Given the description of an element on the screen output the (x, y) to click on. 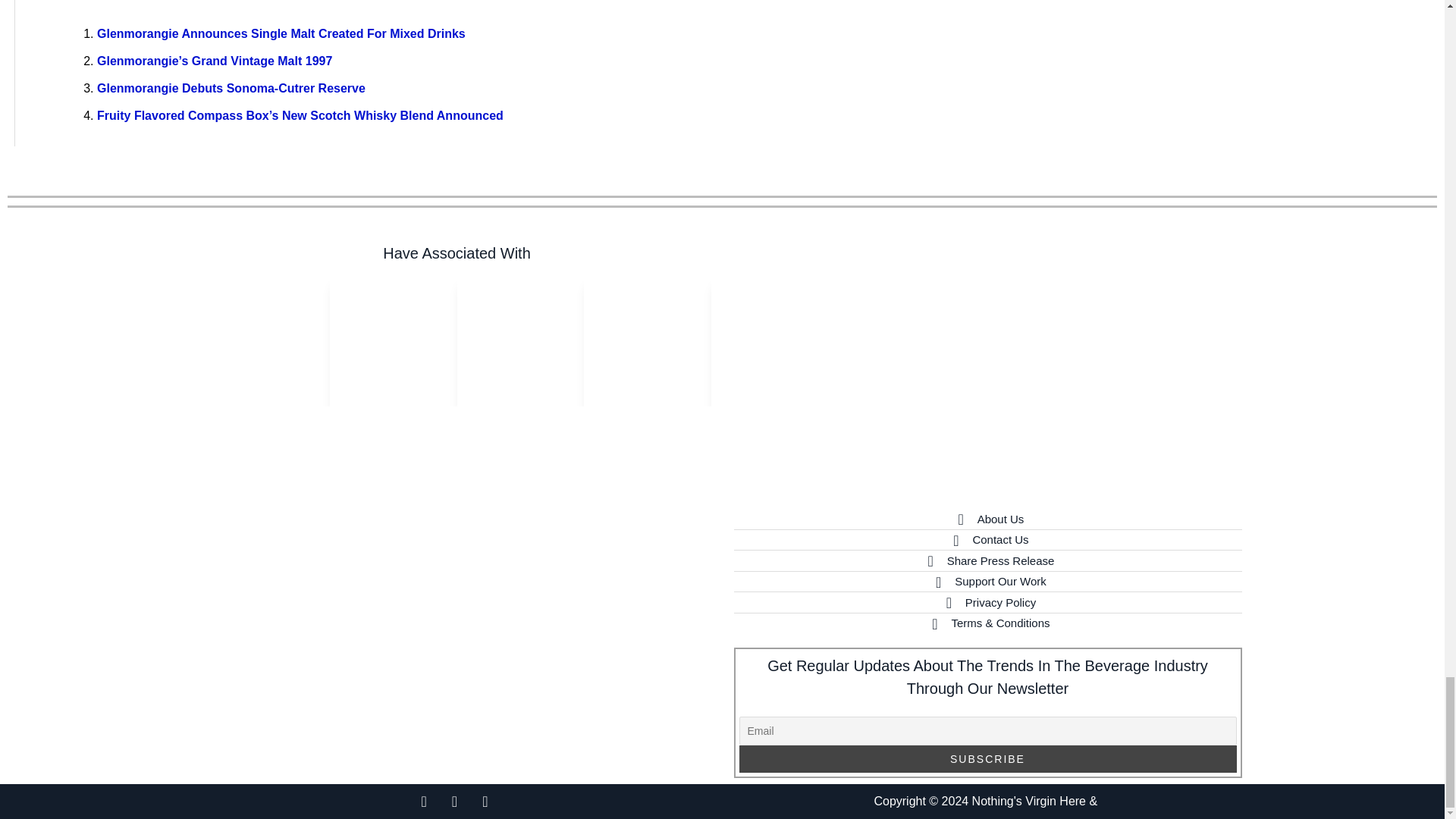
Subscribe (987, 759)
